Given the description of an element on the screen output the (x, y) to click on. 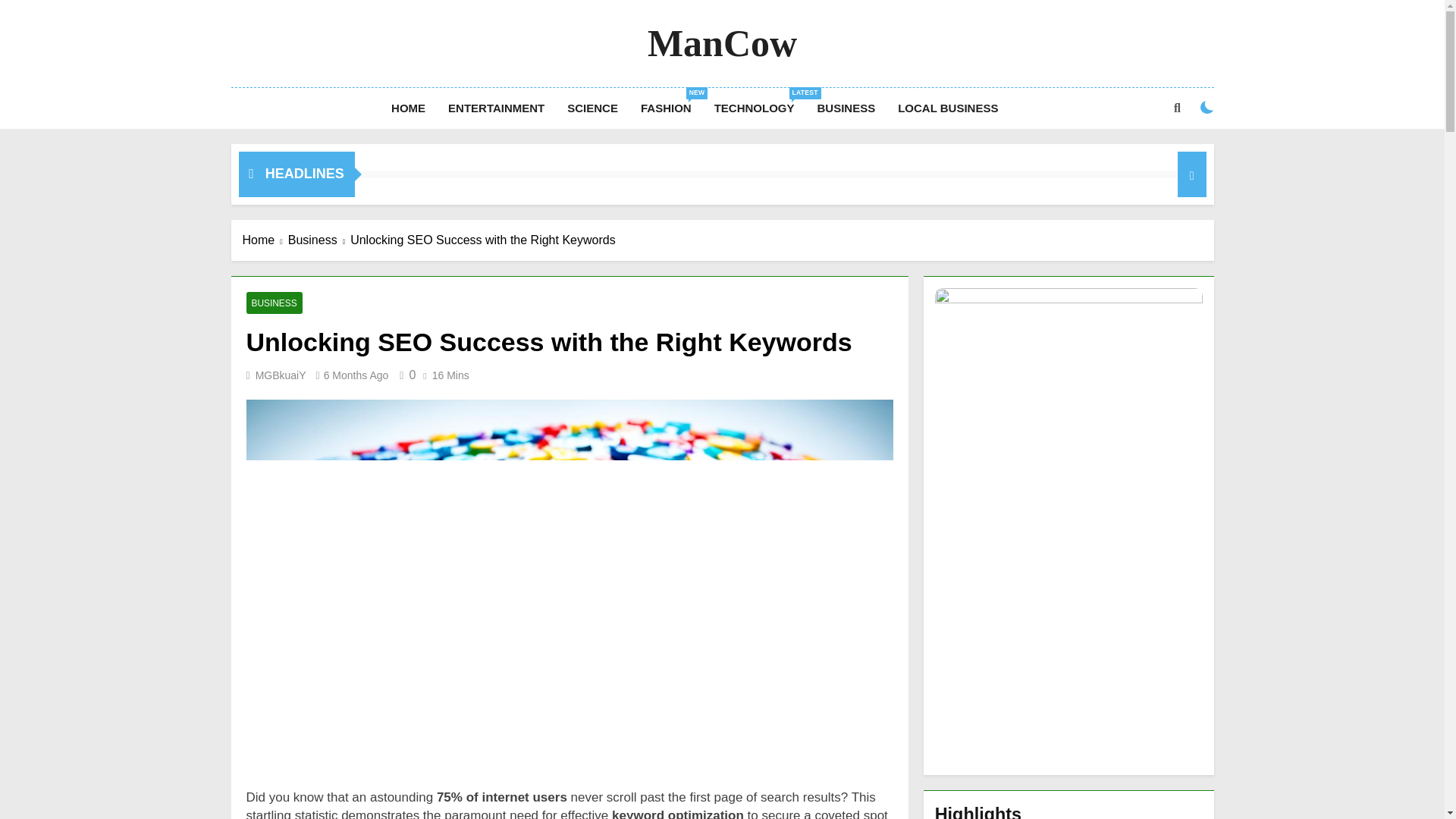
0 (404, 374)
HOME (408, 107)
Business (319, 239)
ManCow (721, 43)
ENTERTAINMENT (665, 107)
Home (496, 107)
LOCAL BUSINESS (265, 239)
on (947, 107)
